Given the description of an element on the screen output the (x, y) to click on. 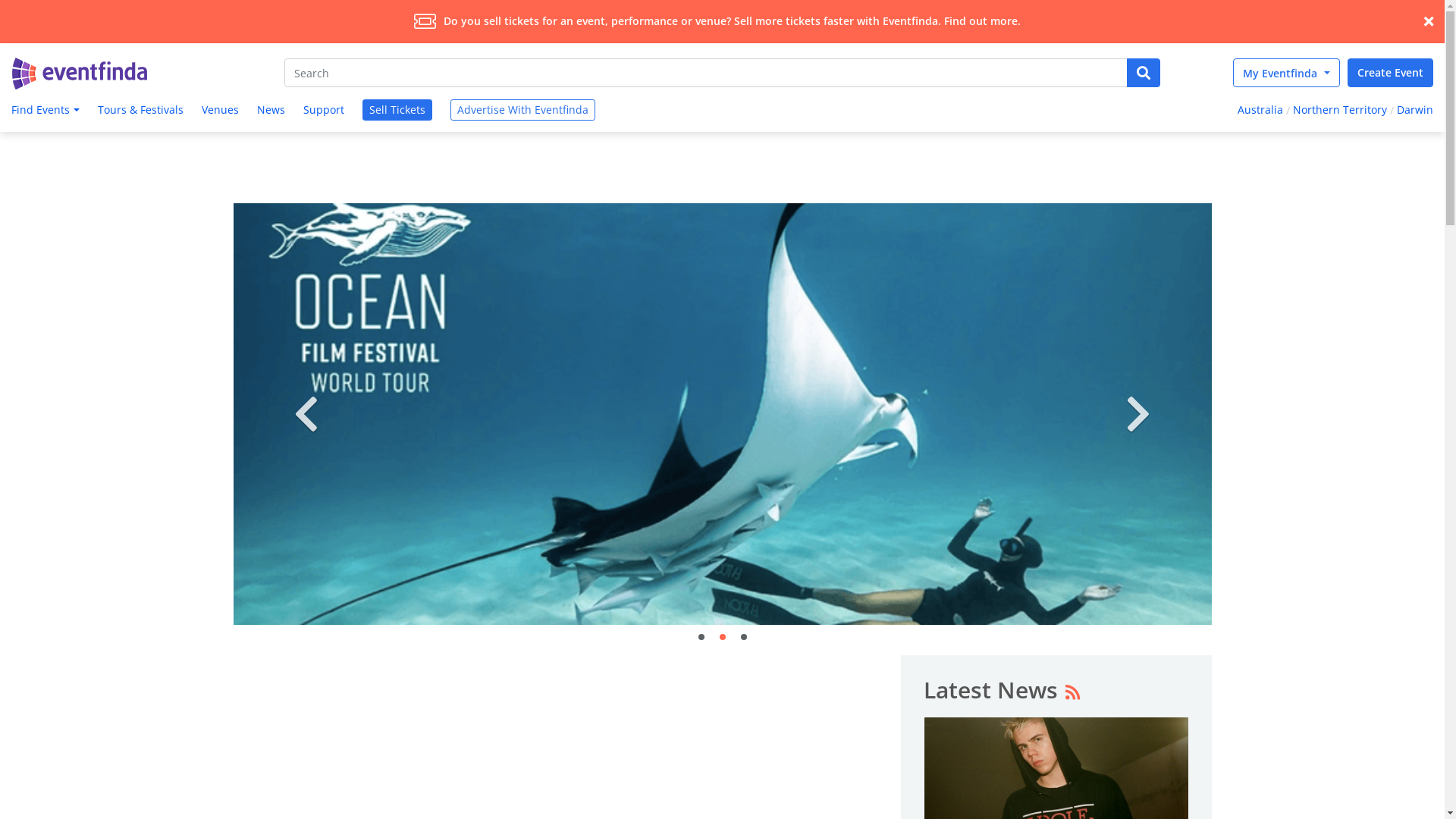
Tours & Festivals Element type: text (140, 110)
eventfinda.com.au - What's on in Australia Element type: text (79, 73)
My Eventfinda Element type: text (1286, 72)
Latest News Element type: text (990, 689)
News Element type: text (270, 110)
Australia Element type: text (1258, 110)
2024 Ocean Film Festival Element type: hover (722, 413)
Find Events Element type: text (43, 110)
Previous Element type: text (306, 413)
Venues Element type: text (220, 110)
Next Element type: text (1137, 413)
Search Element type: hover (705, 72)
Create Event Element type: text (1390, 72)
Darwin Element type: text (1416, 110)
Support Element type: text (323, 110)
Sell Tickets Element type: text (397, 109)
Advertise With Eventfinda Element type: text (522, 109)
Northern Territory Element type: text (1339, 110)
